Given the description of an element on the screen output the (x, y) to click on. 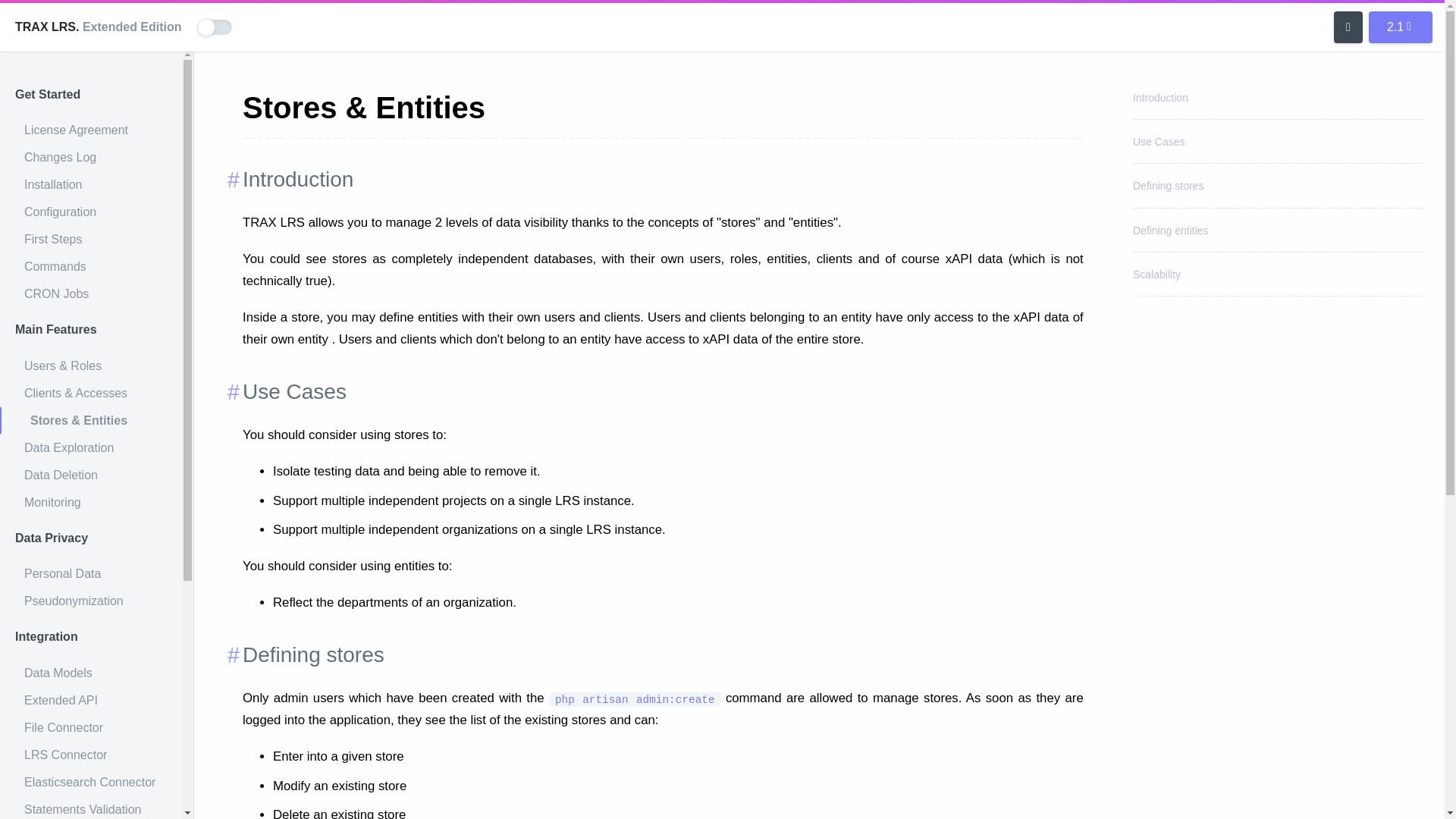
TRAX LRS. Extended Edition (97, 27)
Data Models (91, 673)
Pseudonymization (91, 601)
CRON Jobs (91, 293)
First Steps (91, 239)
LRS Connector (91, 755)
Installation (91, 185)
License Agreement (91, 130)
Elasticsearch Connector (91, 782)
Extended API (91, 700)
Data Exploration (91, 447)
Scalability (1156, 274)
Statements Validation (91, 807)
2.1 (1400, 27)
Defining stores (1168, 185)
